Given the description of an element on the screen output the (x, y) to click on. 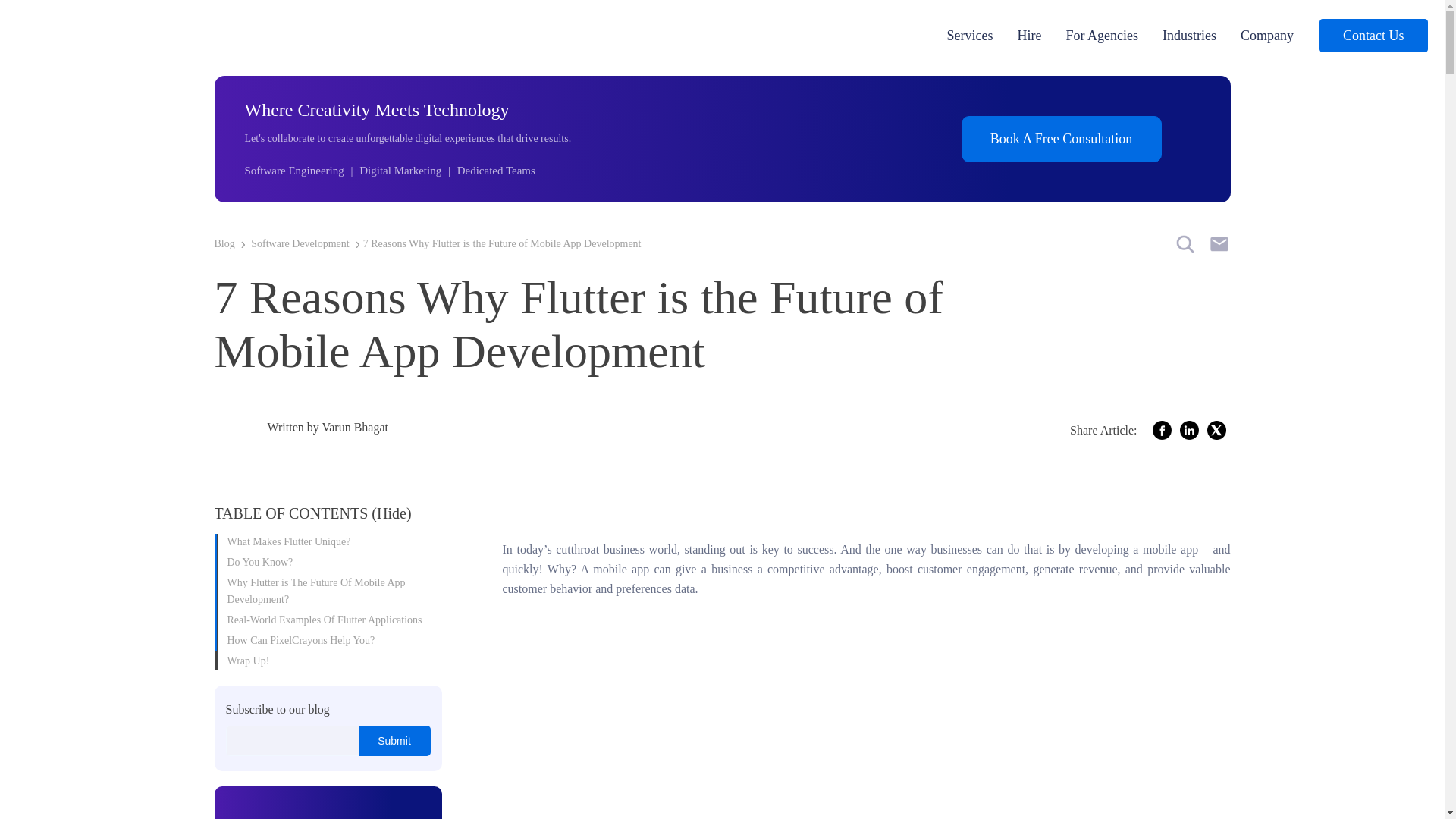
Submit (393, 740)
Hire (1029, 35)
Services (969, 35)
